Given the description of an element on the screen output the (x, y) to click on. 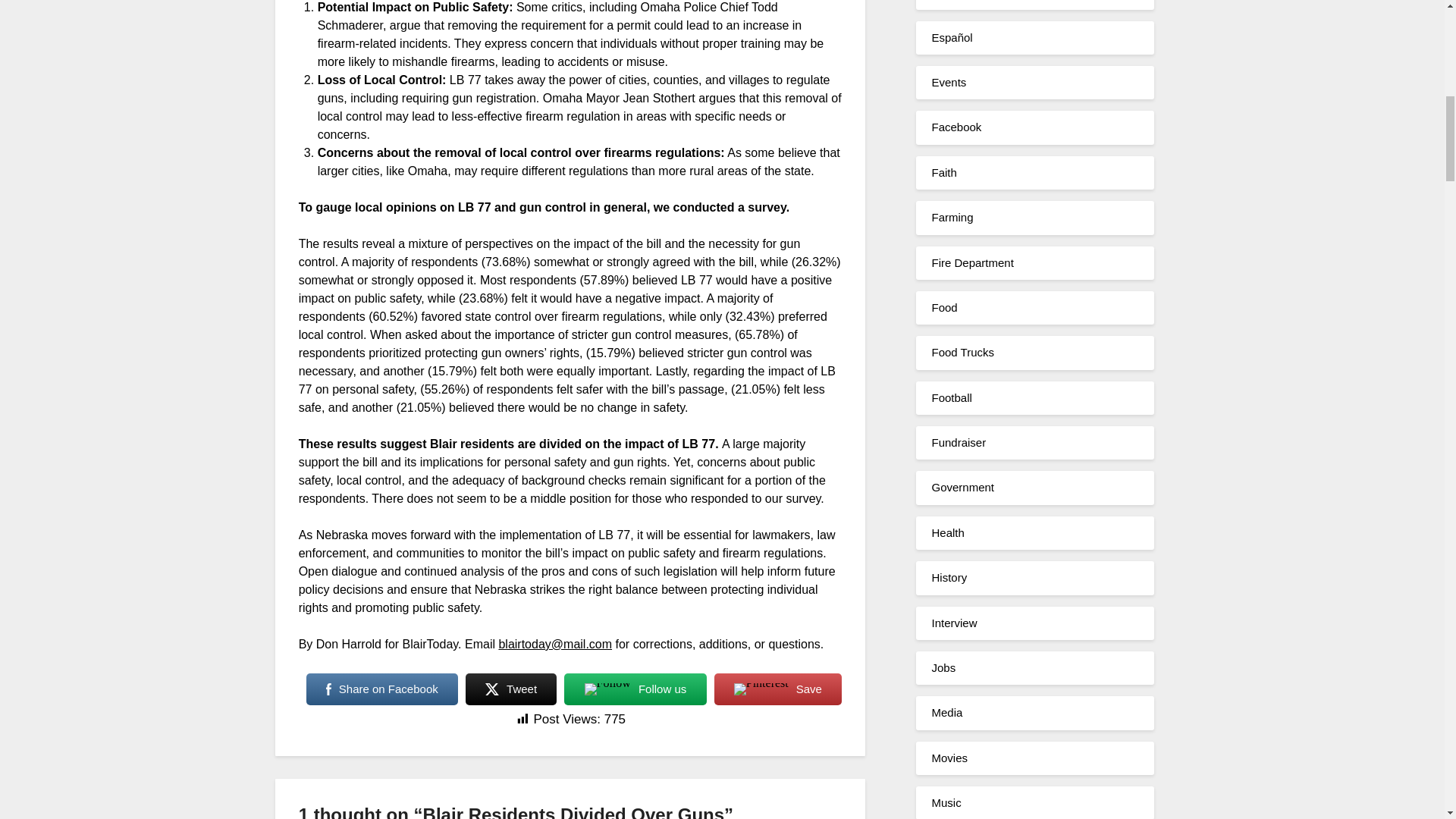
Faith (943, 172)
Tweet (510, 688)
Share on Facebook (381, 688)
Fire Department (972, 262)
Save (778, 688)
Follow us (635, 688)
Food (943, 307)
Farming (951, 216)
Facebook (956, 126)
Events (948, 82)
